Given the description of an element on the screen output the (x, y) to click on. 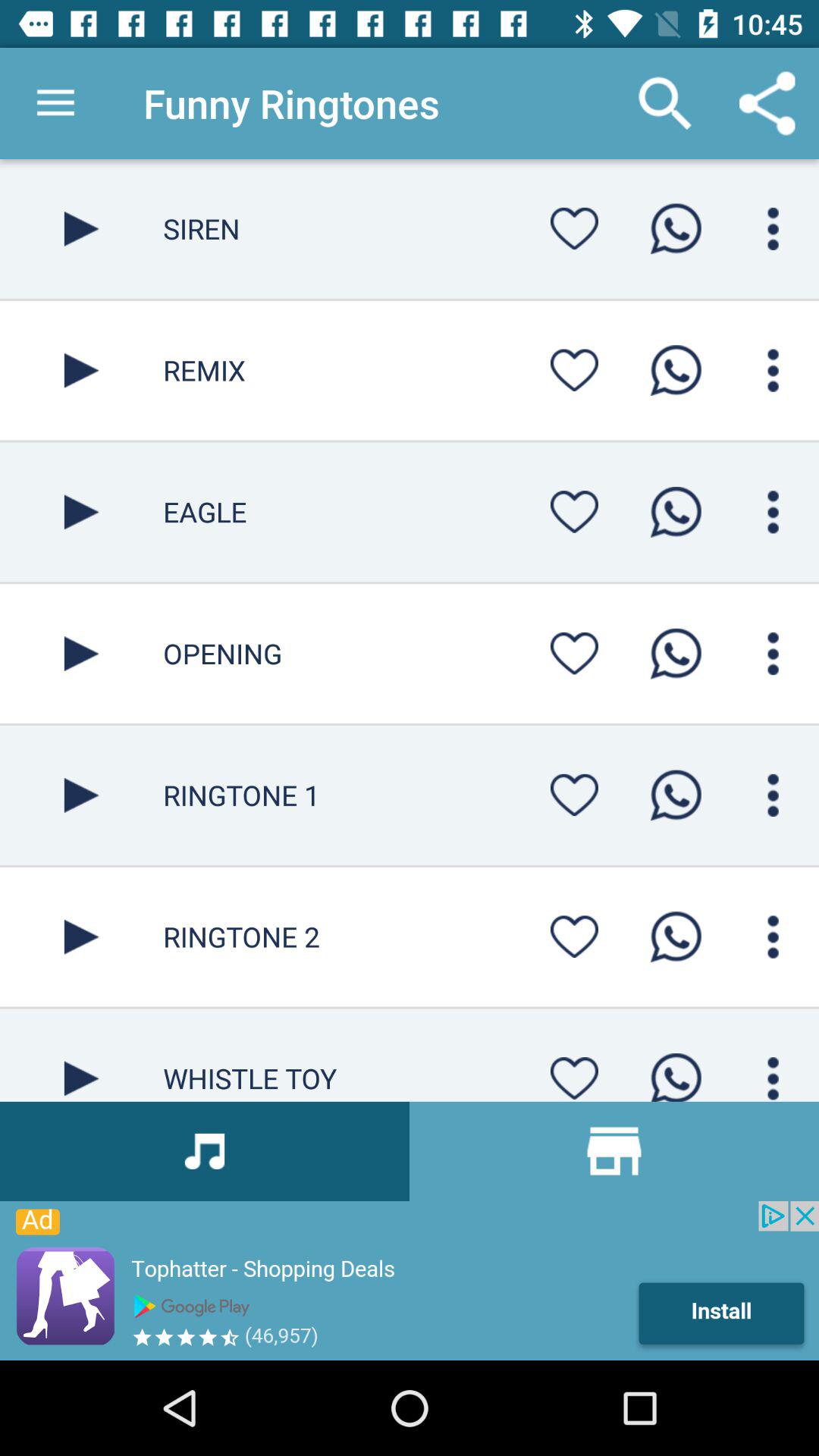
call the option (675, 936)
